Given the description of an element on the screen output the (x, y) to click on. 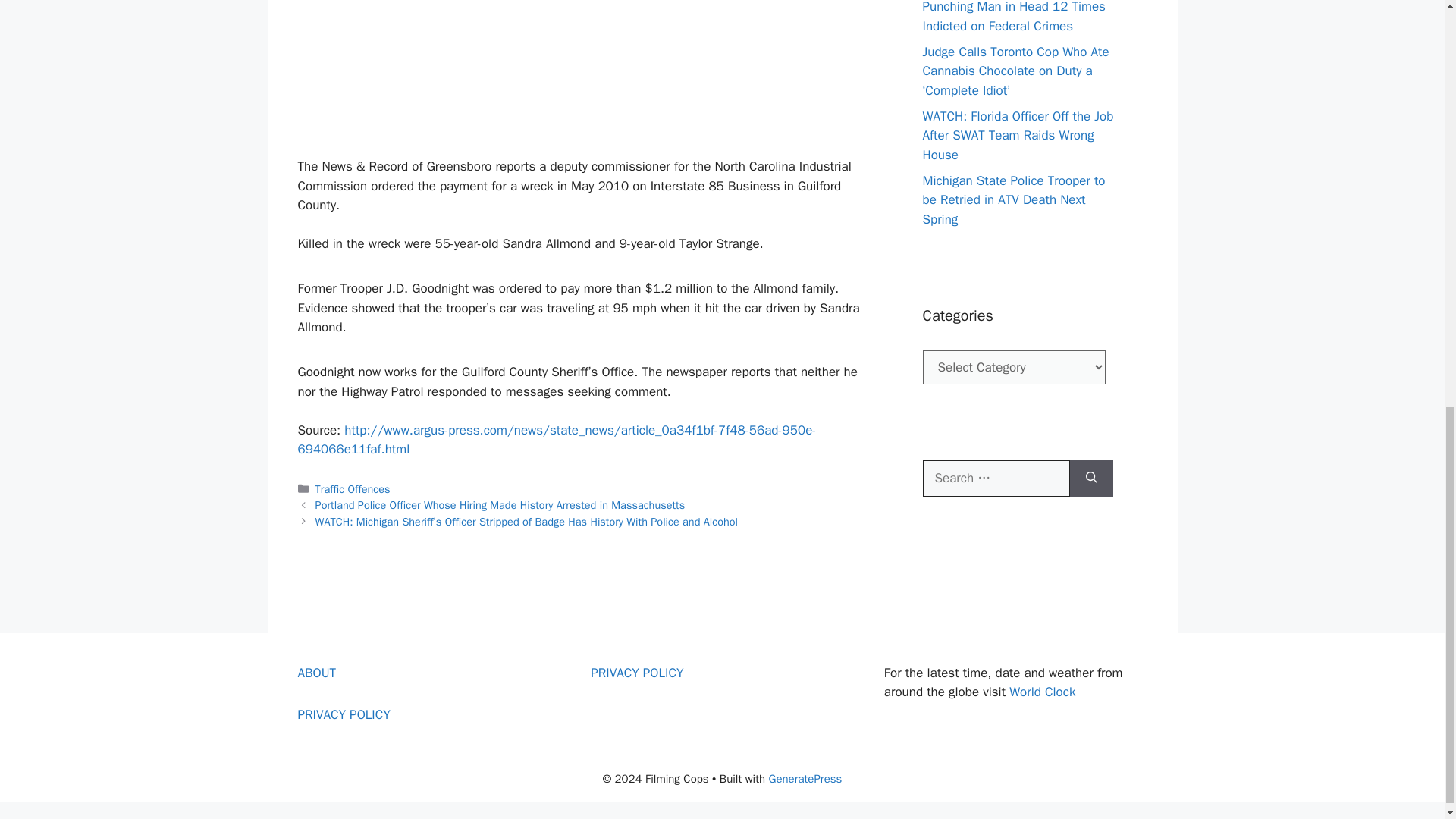
PRIVACY POLICY (343, 714)
Search for: (994, 478)
PRIVACY POLICY (636, 672)
Advertisement (579, 75)
World Clock (1042, 691)
Traffic Offences (352, 489)
GeneratePress (805, 778)
ABOUT (316, 672)
